Given the description of an element on the screen output the (x, y) to click on. 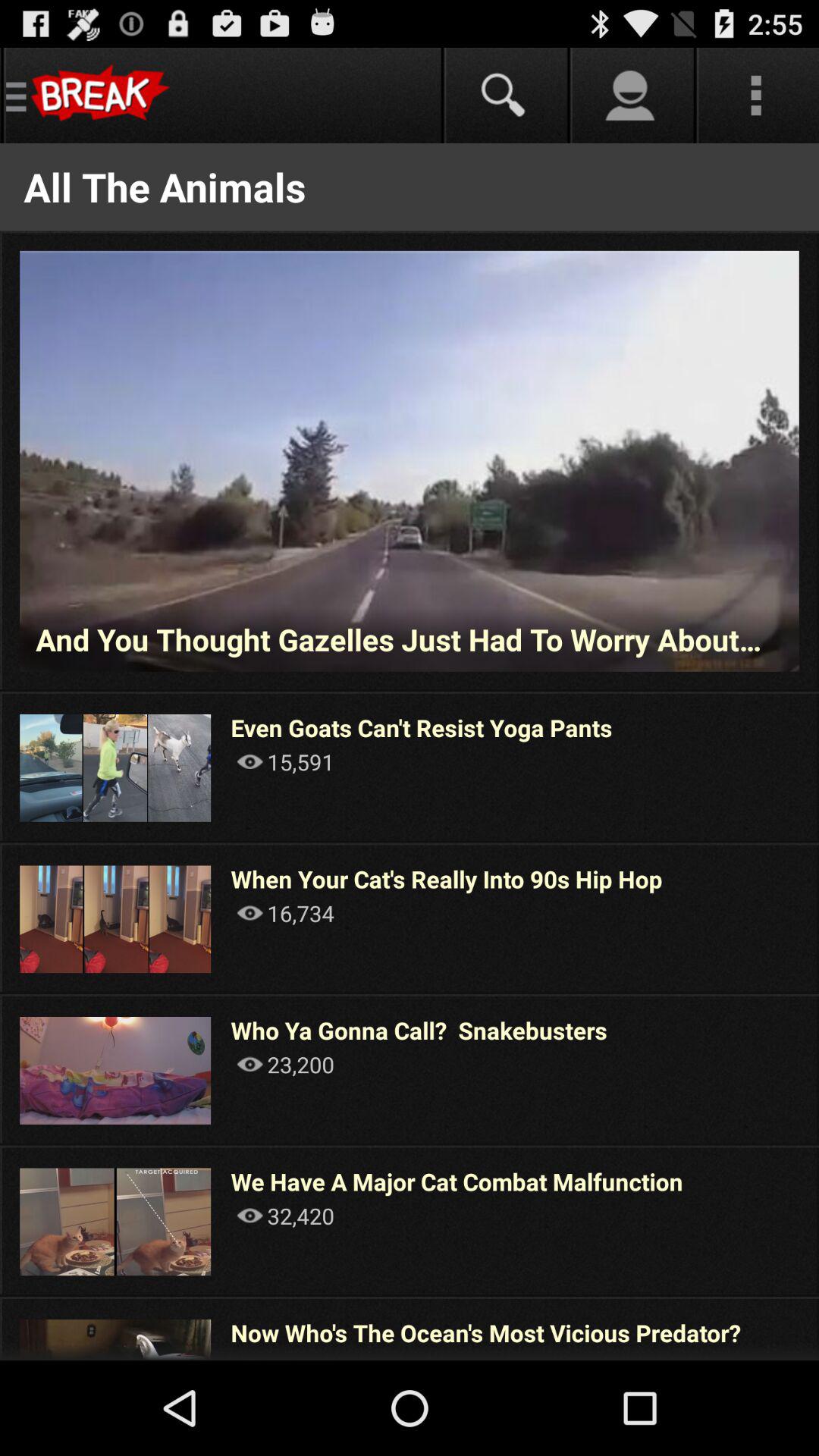
select the app to the right of we have a icon (817, 1220)
